Given the description of an element on the screen output the (x, y) to click on. 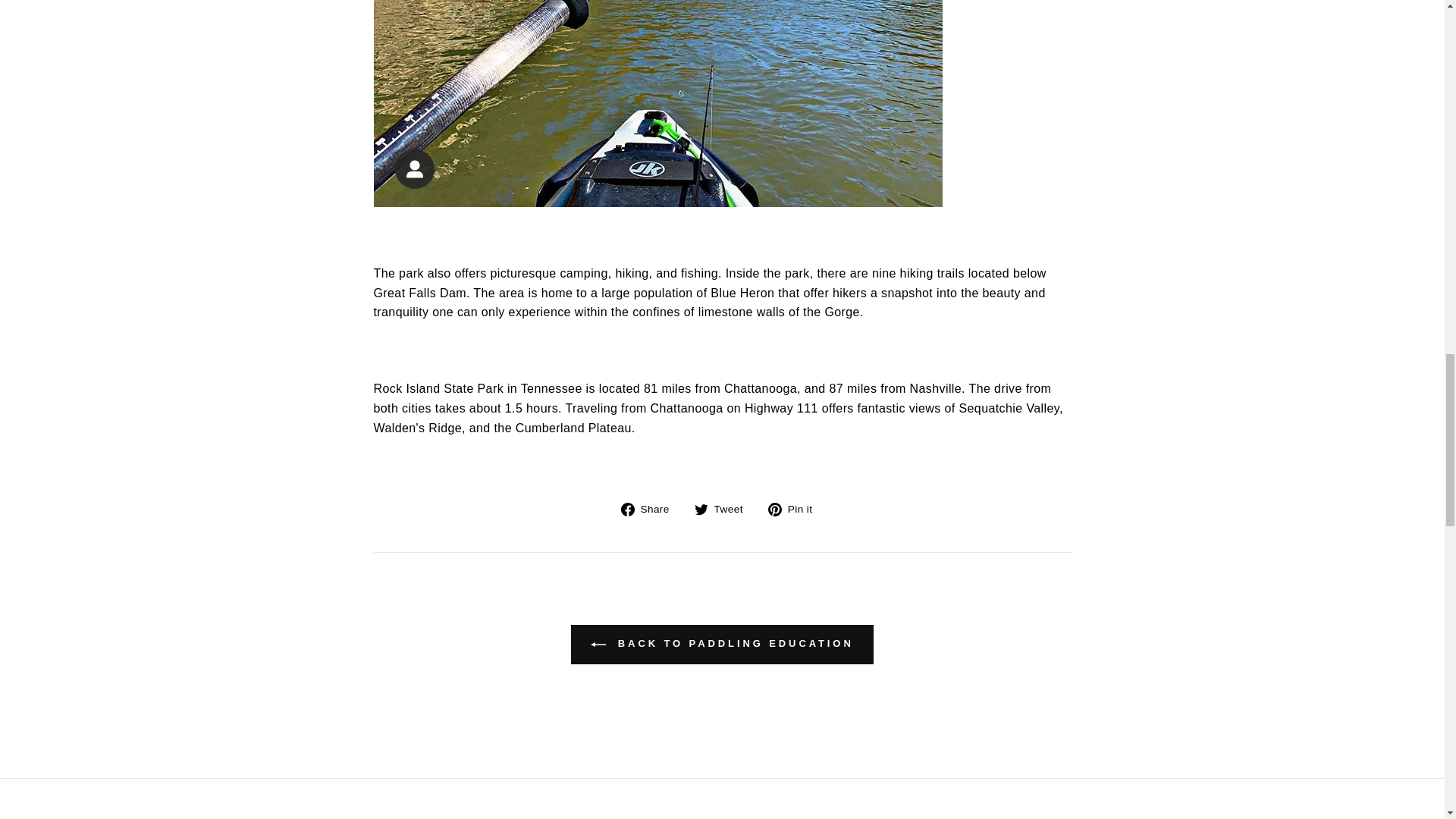
Tweet on Twitter (724, 508)
Pin on Pinterest (796, 508)
twitter (700, 509)
Share on Facebook (651, 508)
ICON-LEFT-ARROW (598, 644)
